Given the description of an element on the screen output the (x, y) to click on. 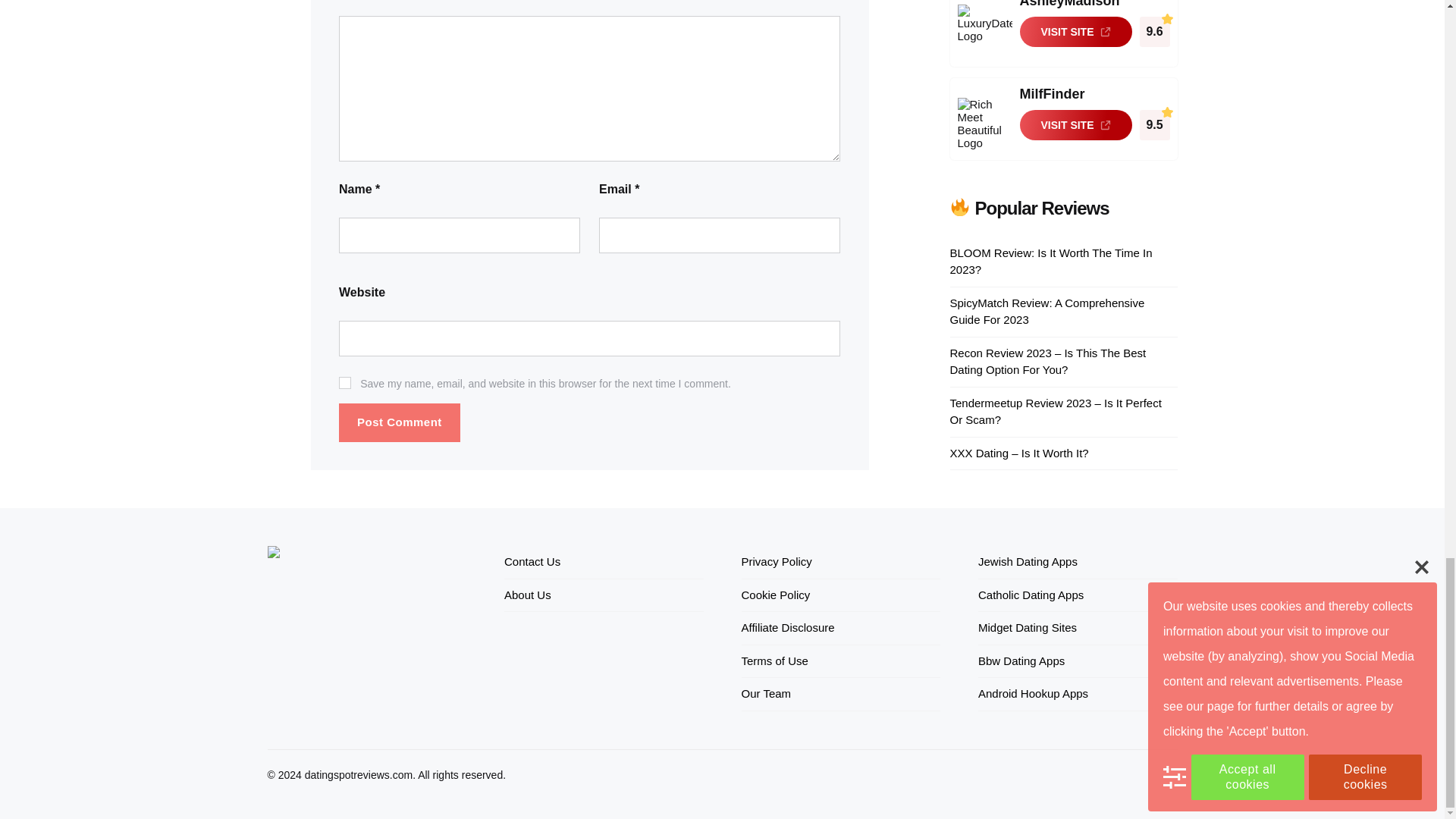
yes (344, 382)
Post Comment (399, 422)
